Given the description of an element on the screen output the (x, y) to click on. 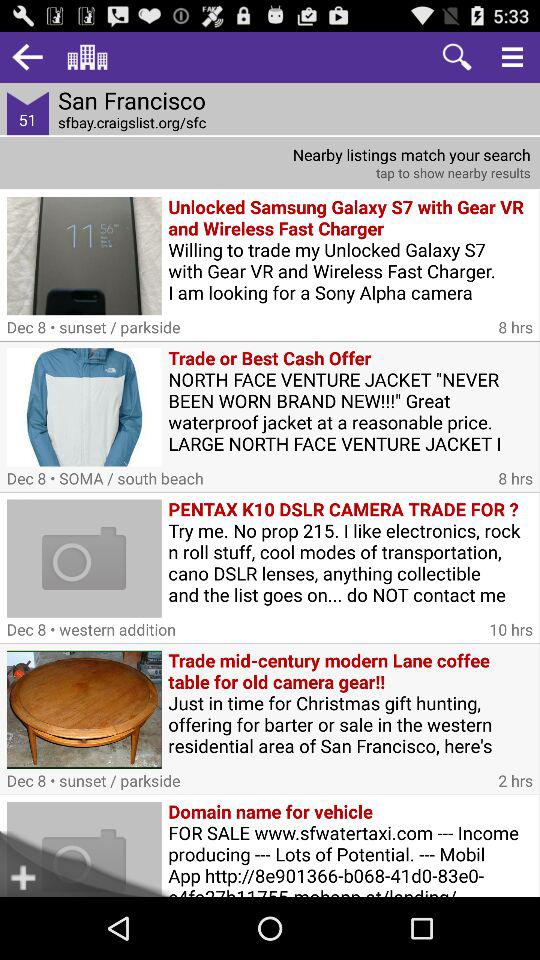
tap the app next to the domain name for app (42, 864)
